Given the description of an element on the screen output the (x, y) to click on. 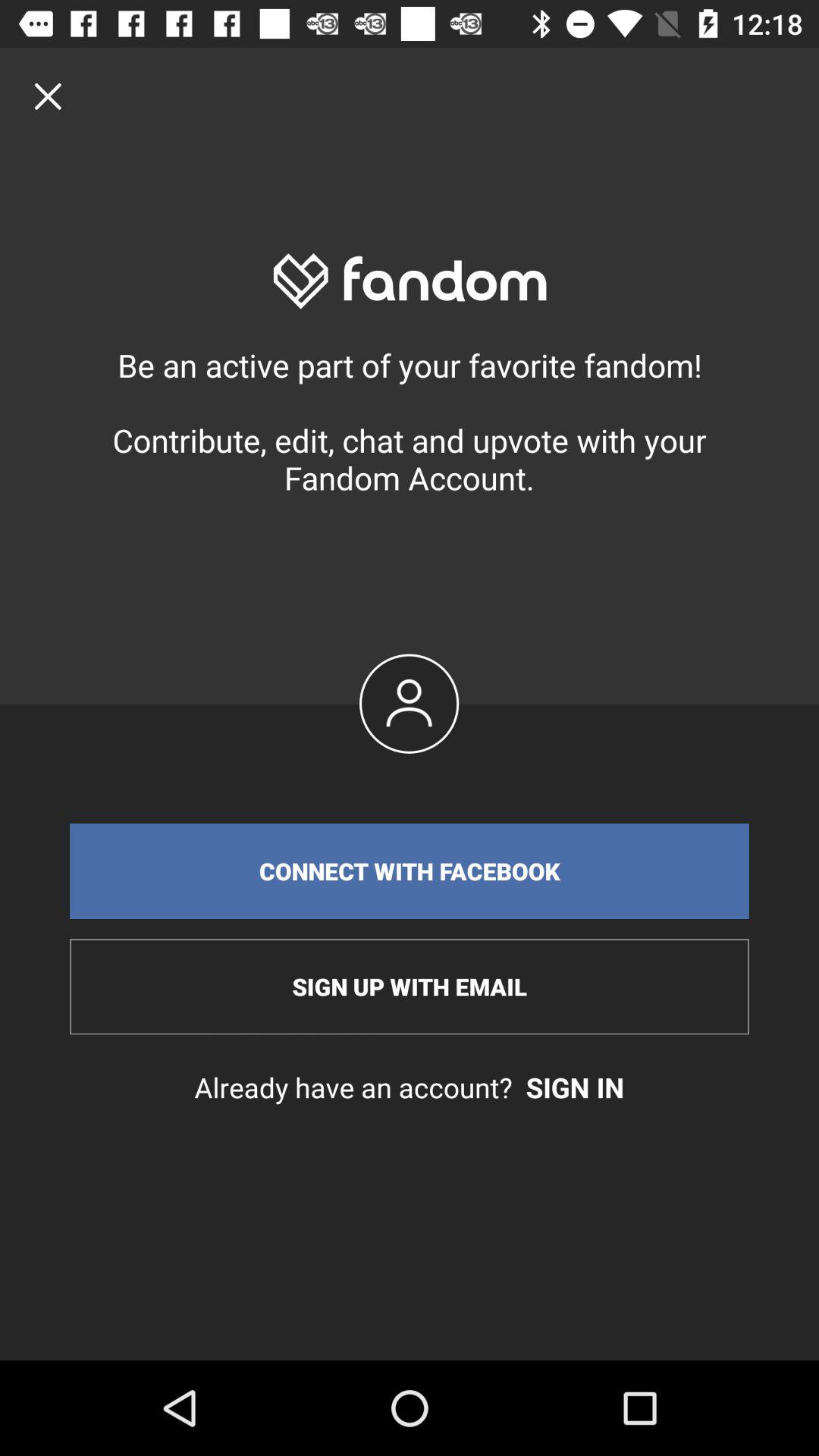
flip until the sign up with (409, 986)
